Given the description of an element on the screen output the (x, y) to click on. 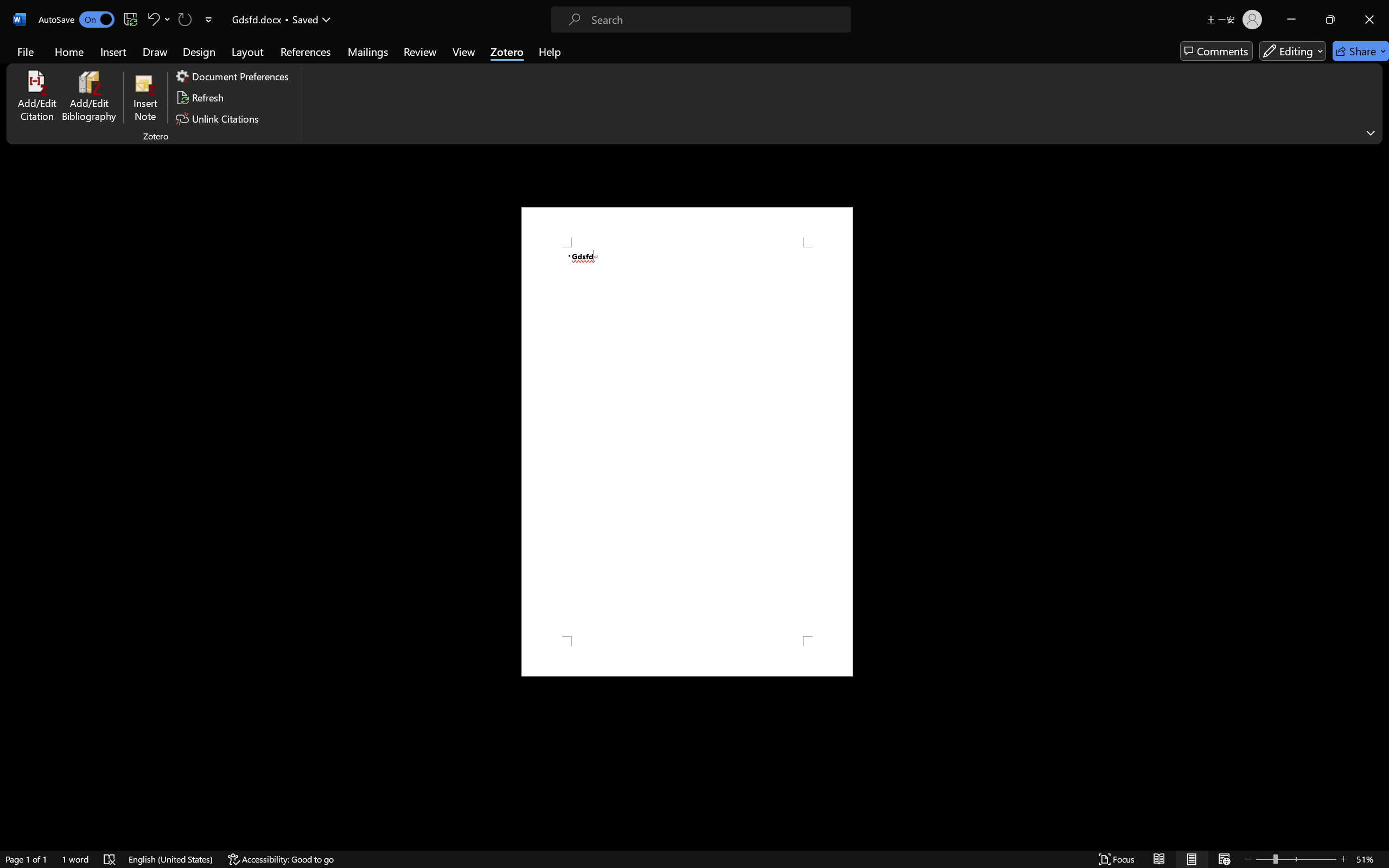
Zoom 57% (1365, 837)
TextBox 7 (792, 401)
